Given the description of an element on the screen output the (x, y) to click on. 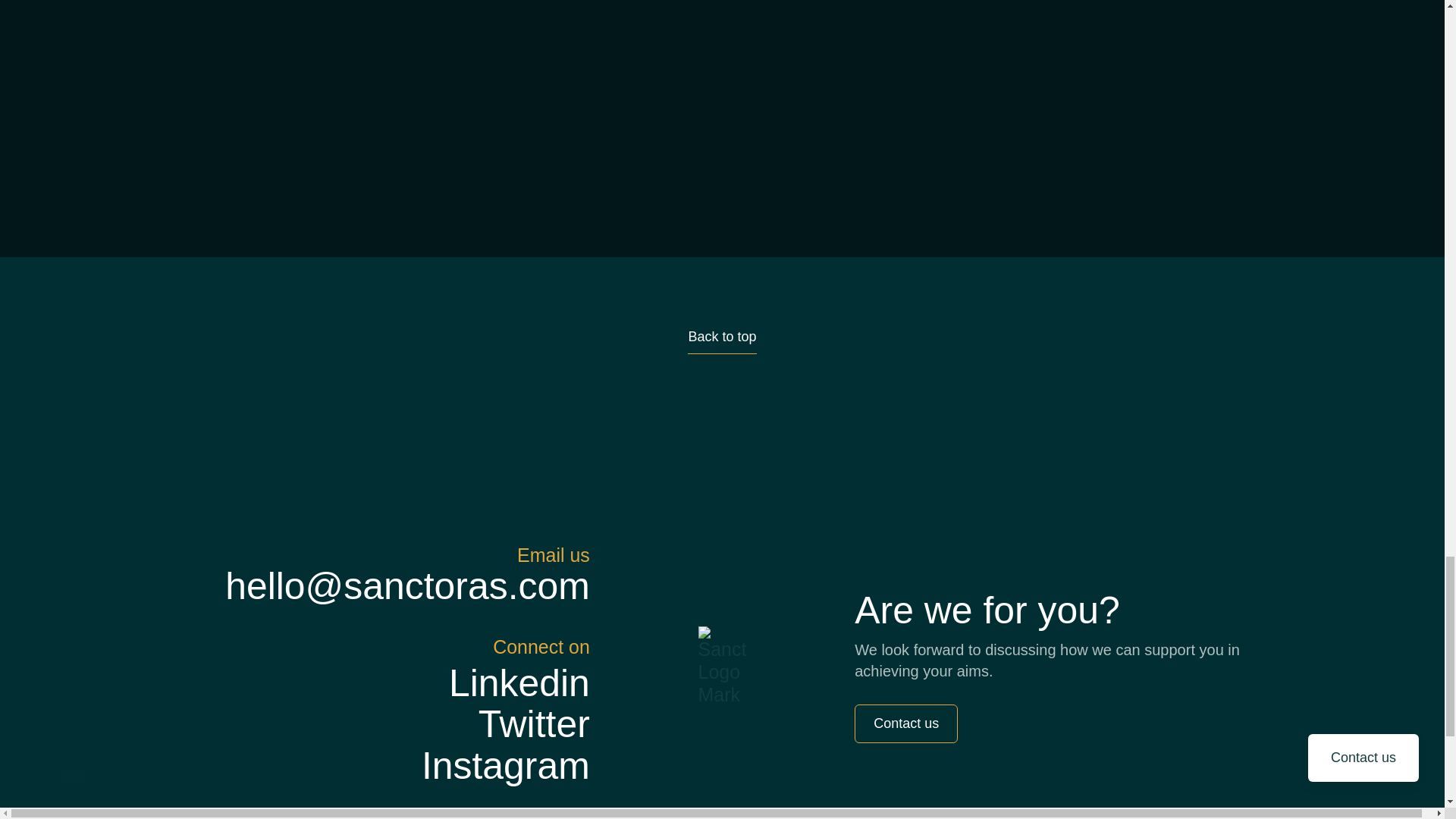
Twitter (534, 724)
Linkedin (518, 683)
Instagram (505, 766)
Contact us (906, 723)
Back to top (721, 341)
